Given the description of an element on the screen output the (x, y) to click on. 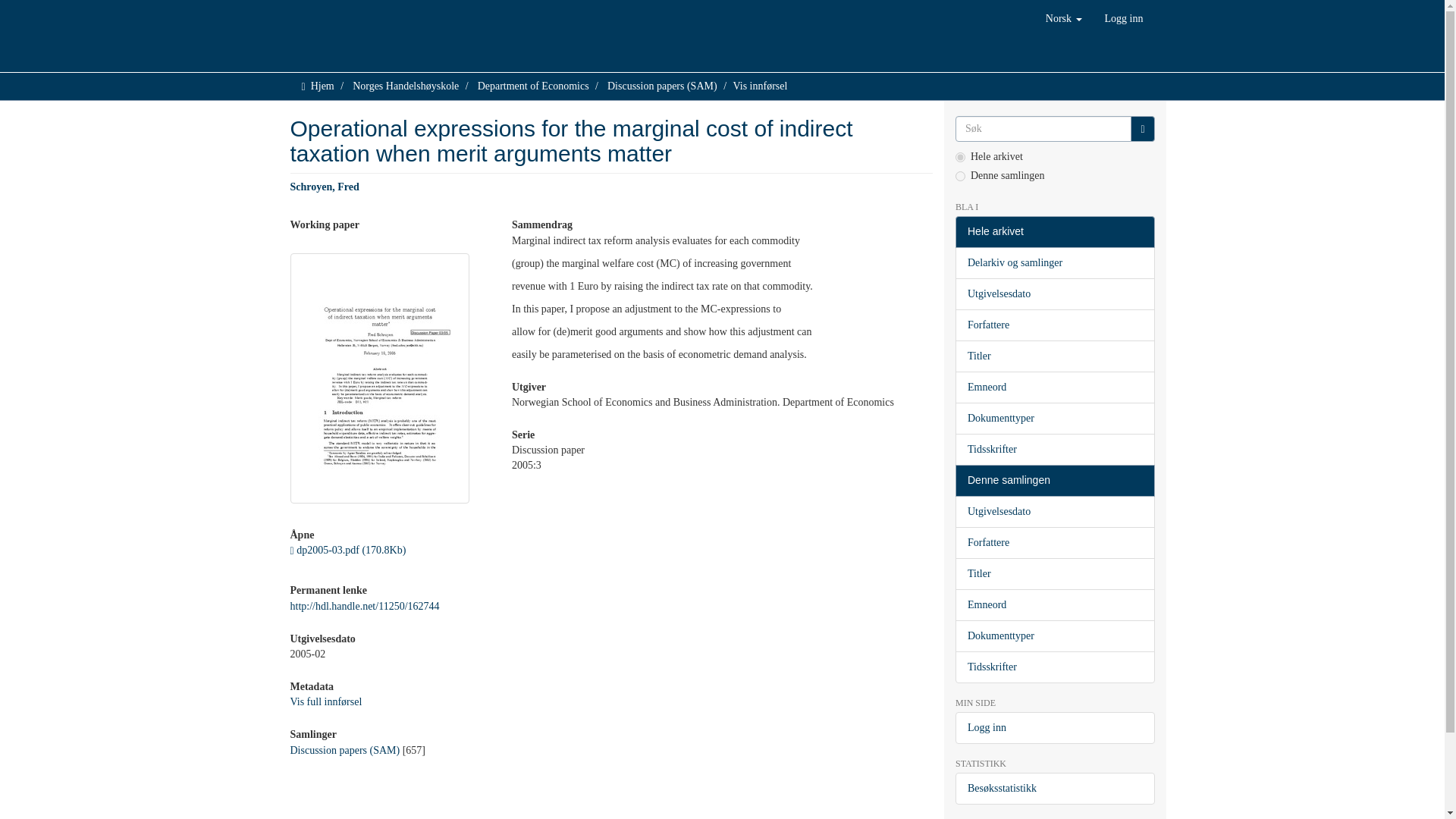
Utgivelsesdato (1054, 294)
Hele arkivet (1054, 232)
Emneord (1054, 387)
Titler (1054, 356)
Hjem (322, 85)
Forfattere (1054, 325)
Norsk  (1063, 18)
Logg inn (1123, 18)
Department of Economics (533, 85)
Schroyen, Fred (323, 186)
Delarkiv og samlinger (1054, 263)
